Given the description of an element on the screen output the (x, y) to click on. 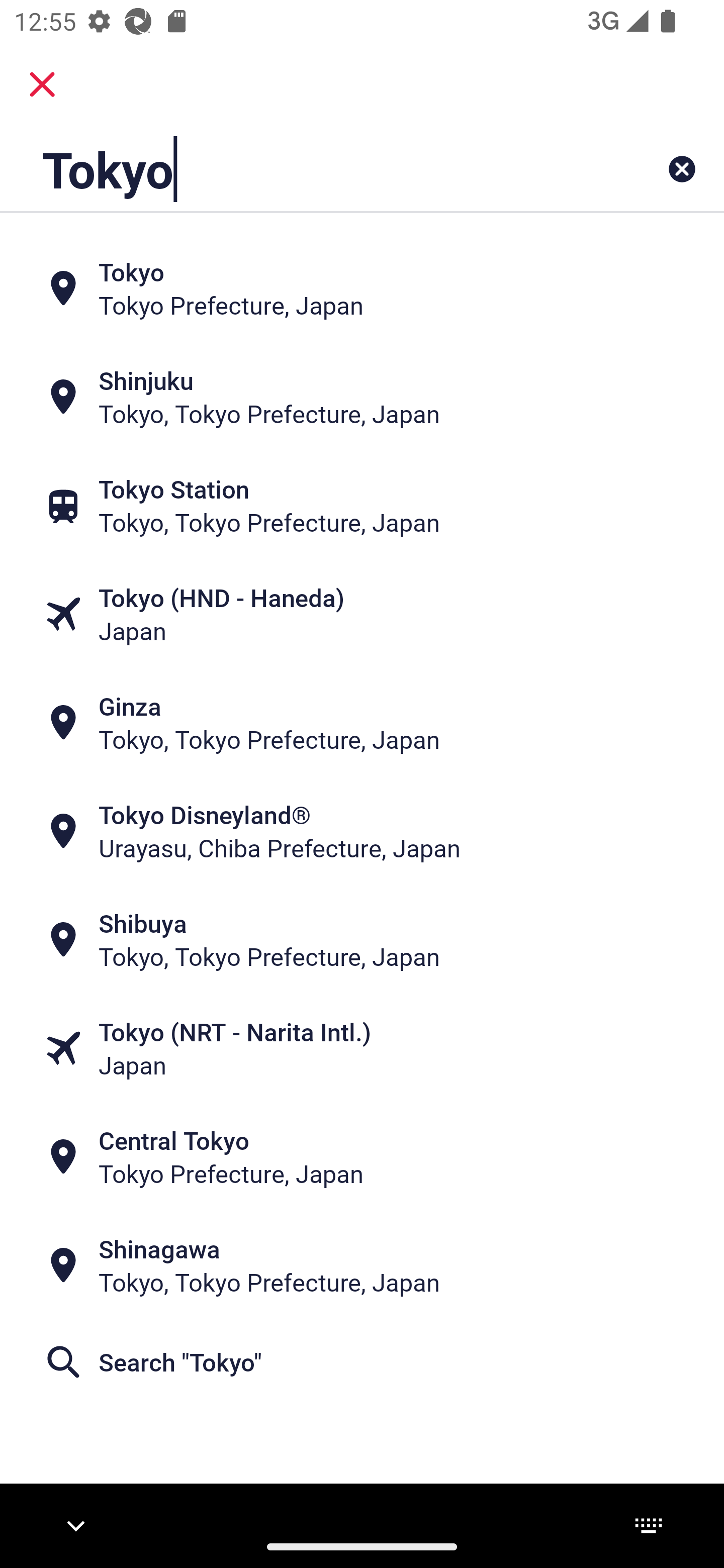
close. (42, 84)
Clear (681, 169)
Tokyo (298, 169)
Tokyo Tokyo Prefecture, Japan (362, 288)
Shinjuku Tokyo, Tokyo Prefecture, Japan (362, 397)
Tokyo Station Tokyo, Tokyo Prefecture, Japan (362, 505)
Tokyo (HND - Haneda) Japan (362, 613)
Ginza Tokyo, Tokyo Prefecture, Japan (362, 722)
Tokyo Disneyland® Urayasu, Chiba Prefecture, Japan (362, 831)
Shibuya Tokyo, Tokyo Prefecture, Japan (362, 939)
Tokyo (NRT - Narita Intl.) Japan (362, 1048)
Central Tokyo Tokyo Prefecture, Japan (362, 1156)
Shinagawa Tokyo, Tokyo Prefecture, Japan (362, 1265)
Search "Tokyo" (362, 1362)
